Given the description of an element on the screen output the (x, y) to click on. 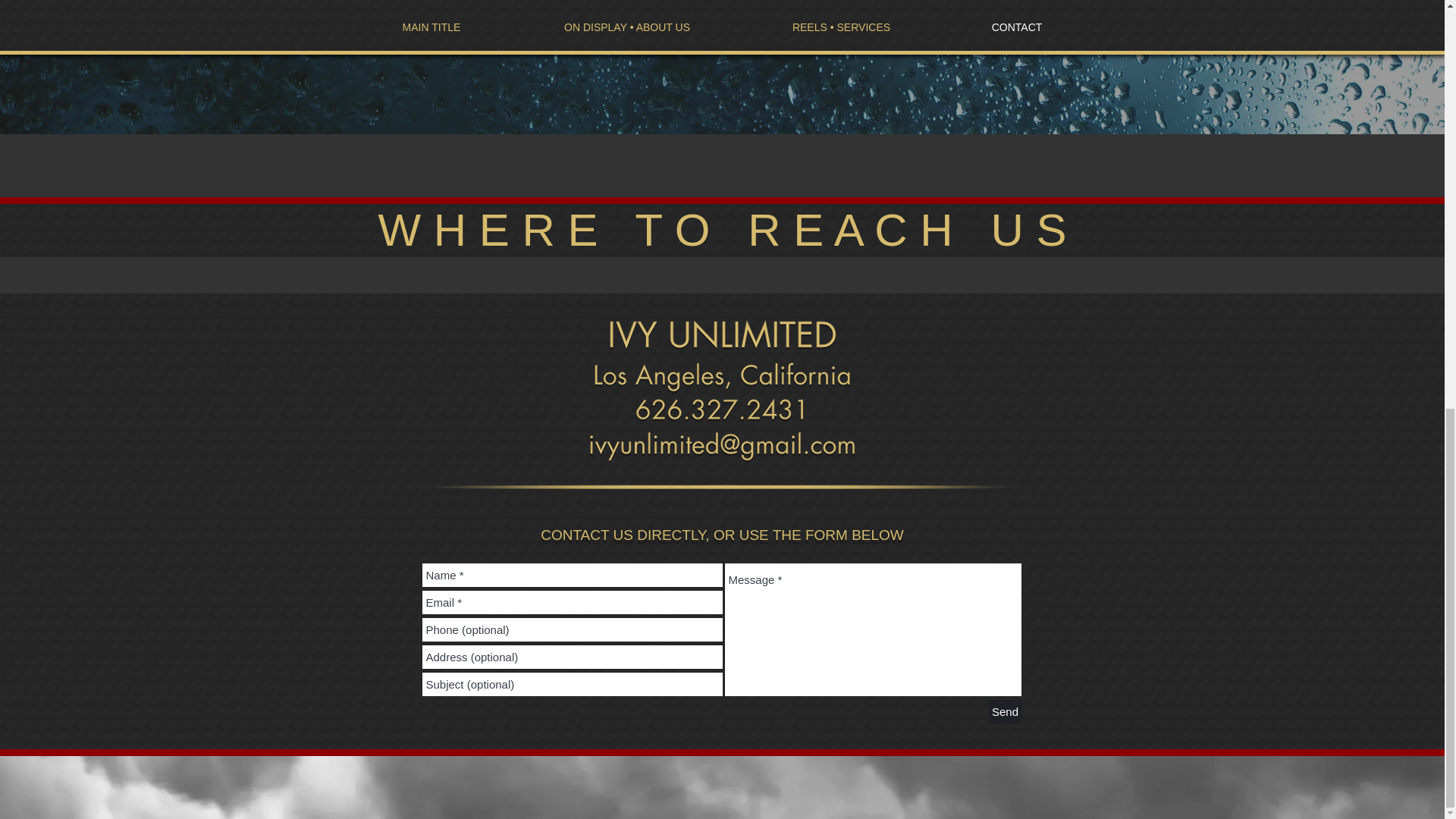
Send (1005, 711)
Contact Info Picto-Graphic - 02.png (722, 393)
Yellow Separation Line with double fade at ends - 01.png (722, 486)
